Given the description of an element on the screen output the (x, y) to click on. 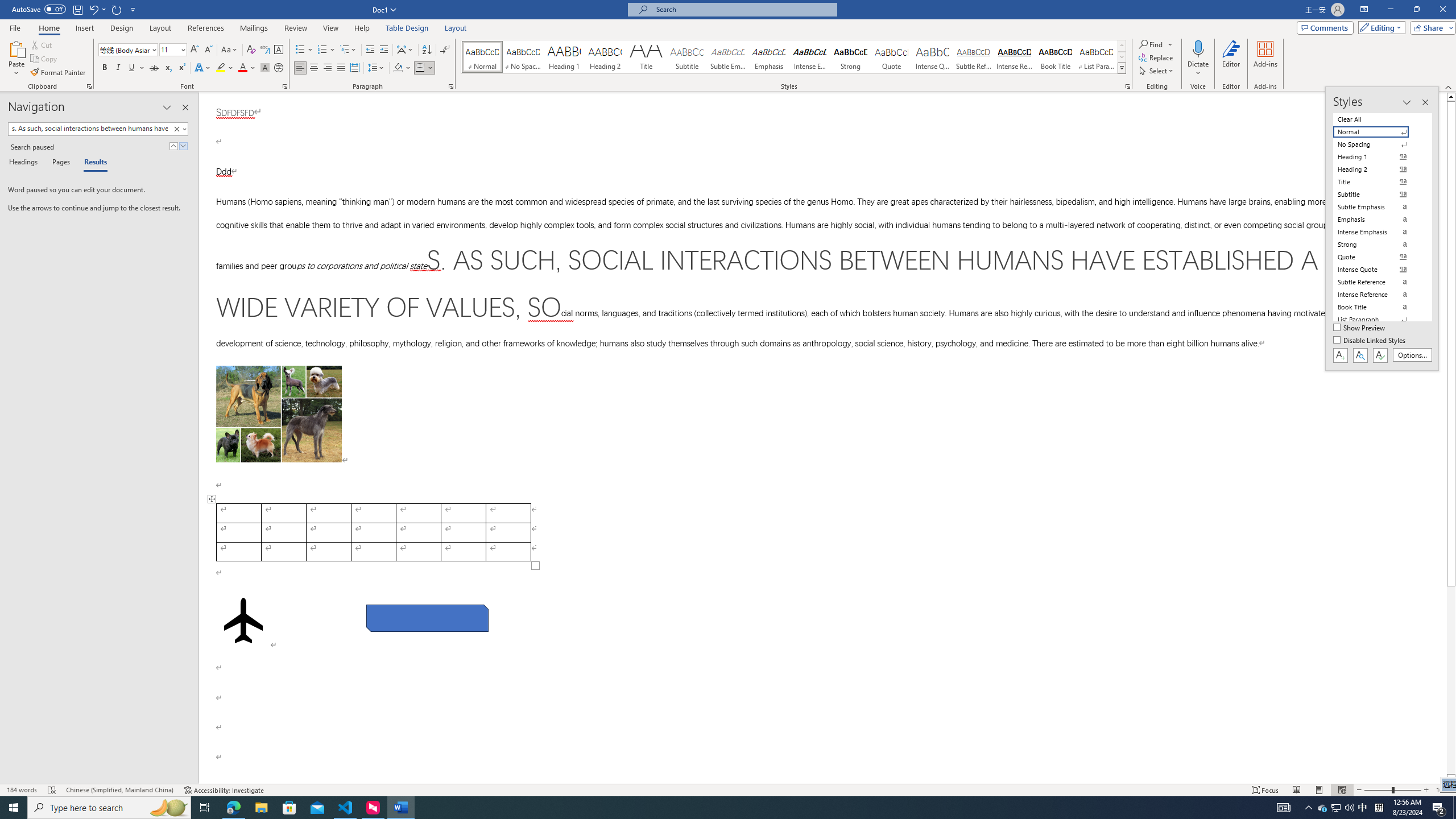
Subtitle (686, 56)
Subtle Emphasis (727, 56)
Subtle Reference (973, 56)
